Given the description of an element on the screen output the (x, y) to click on. 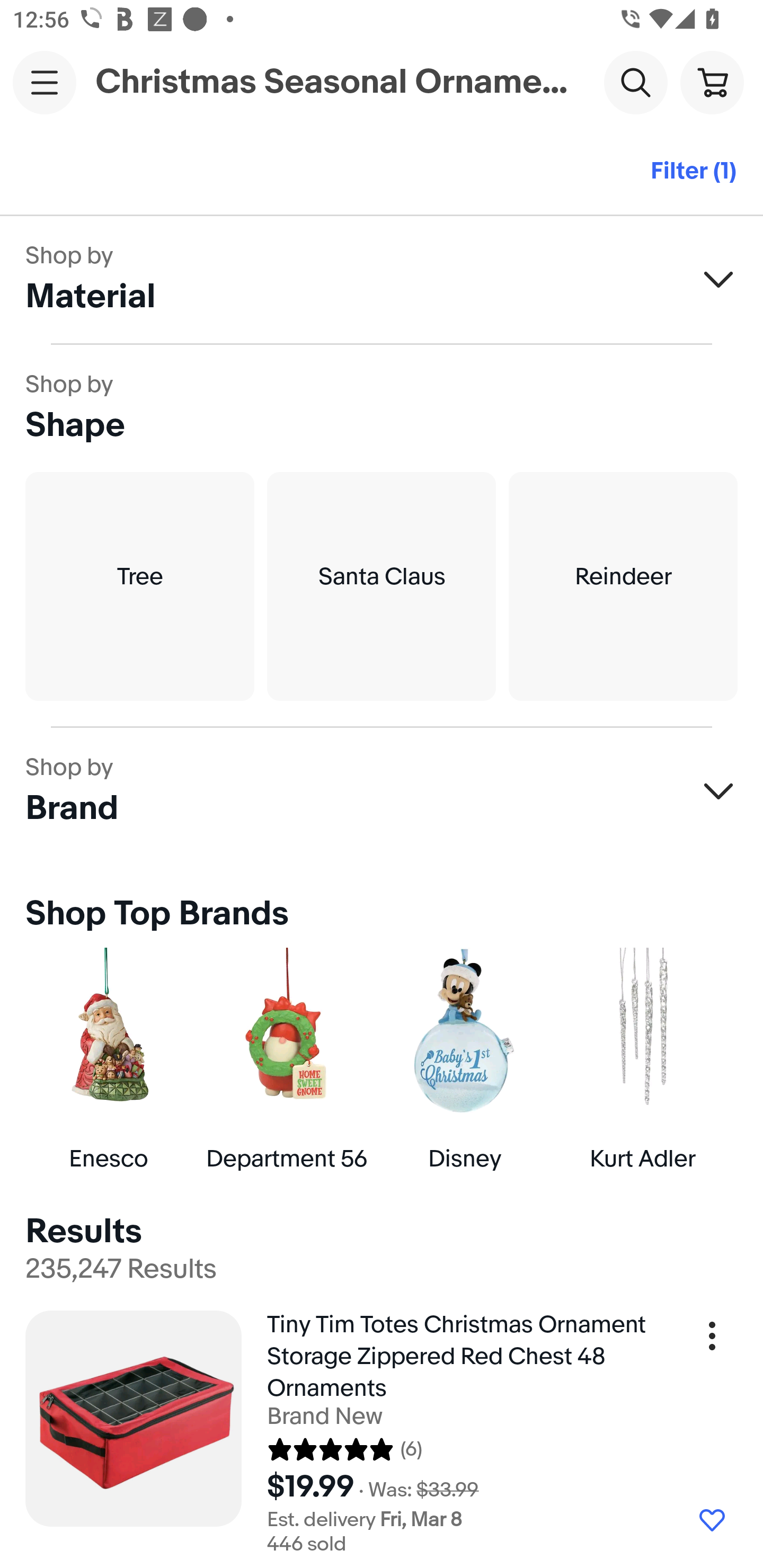
Main navigation, open (44, 82)
Search (635, 81)
Cart button shopping cart (711, 81)
Filter (1) (693, 171)
Shop by Material (381, 279)
Tree (139, 585)
Santa Claus (381, 585)
Reindeer (622, 585)
Shop by Brand (381, 790)
Enesco (107, 1059)
Department 56 (285, 1059)
Disney (464, 1059)
Kurt Adler (641, 1059)
More options (711, 1341)
